Given the description of an element on the screen output the (x, y) to click on. 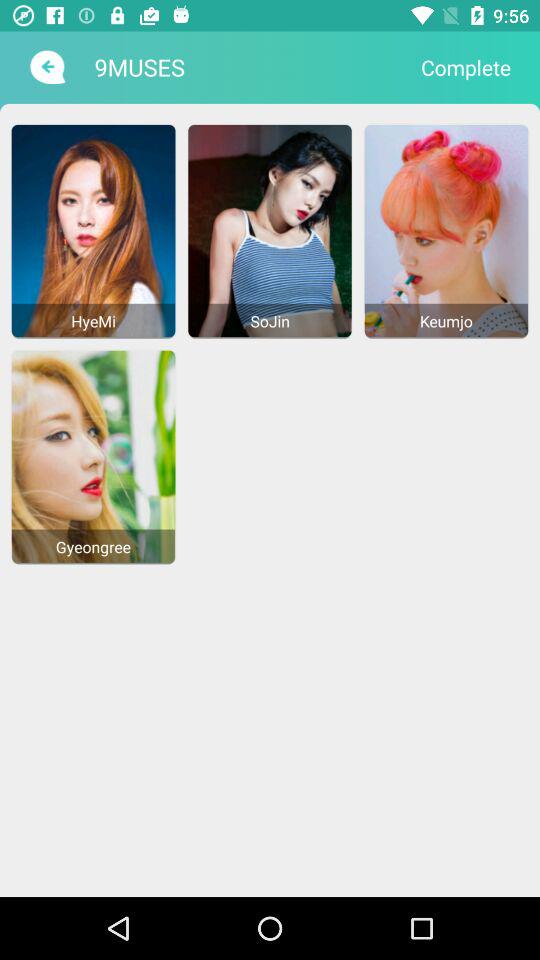
click item next to the 9muses item (465, 67)
